Given the description of an element on the screen output the (x, y) to click on. 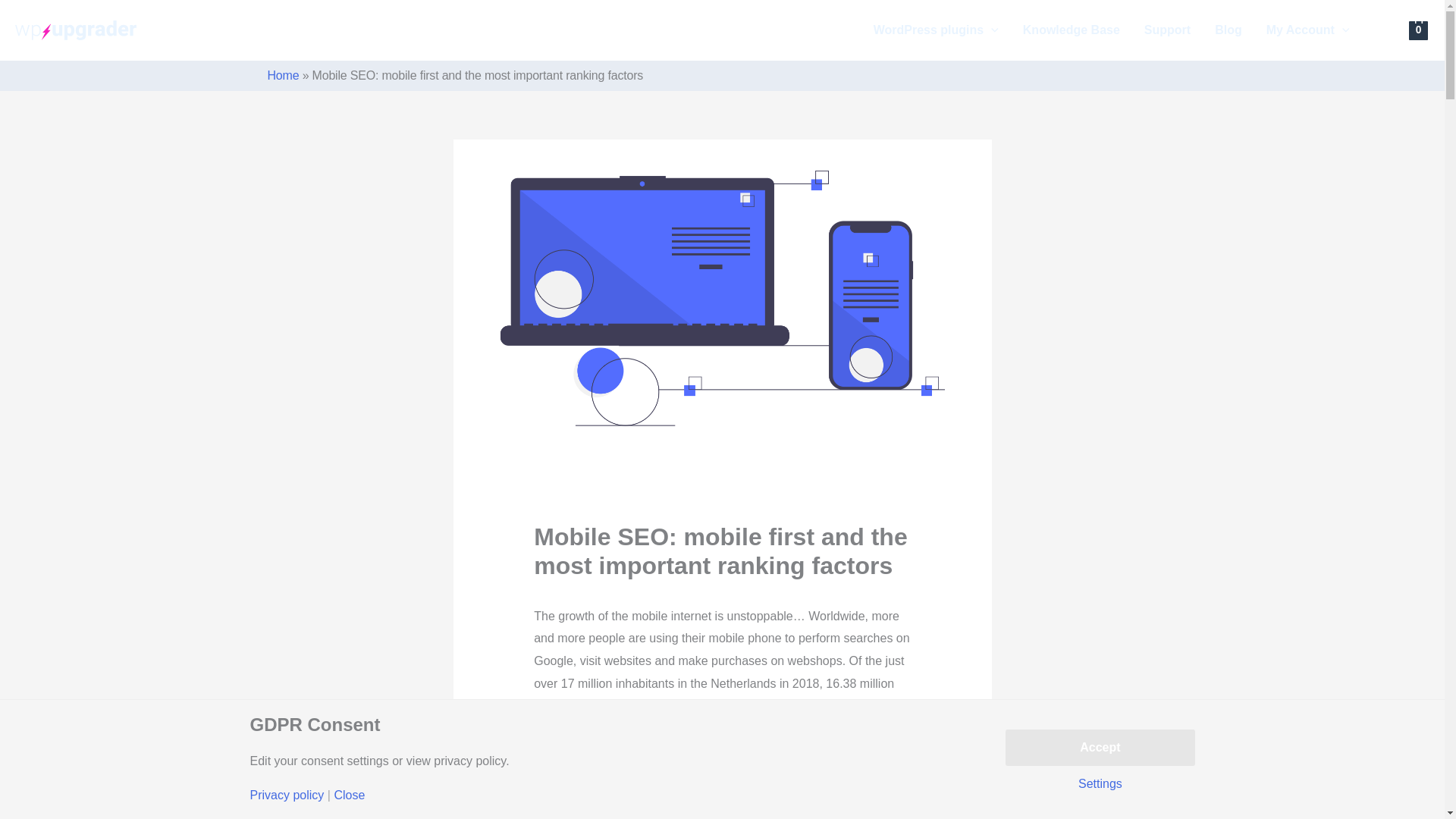
Research (559, 769)
My Account (1307, 30)
WordPress plugins (935, 30)
Home (282, 74)
0 (1418, 29)
View your shopping cart (1418, 29)
Knowledge Base (1071, 30)
Support (1167, 30)
